Given the description of an element on the screen output the (x, y) to click on. 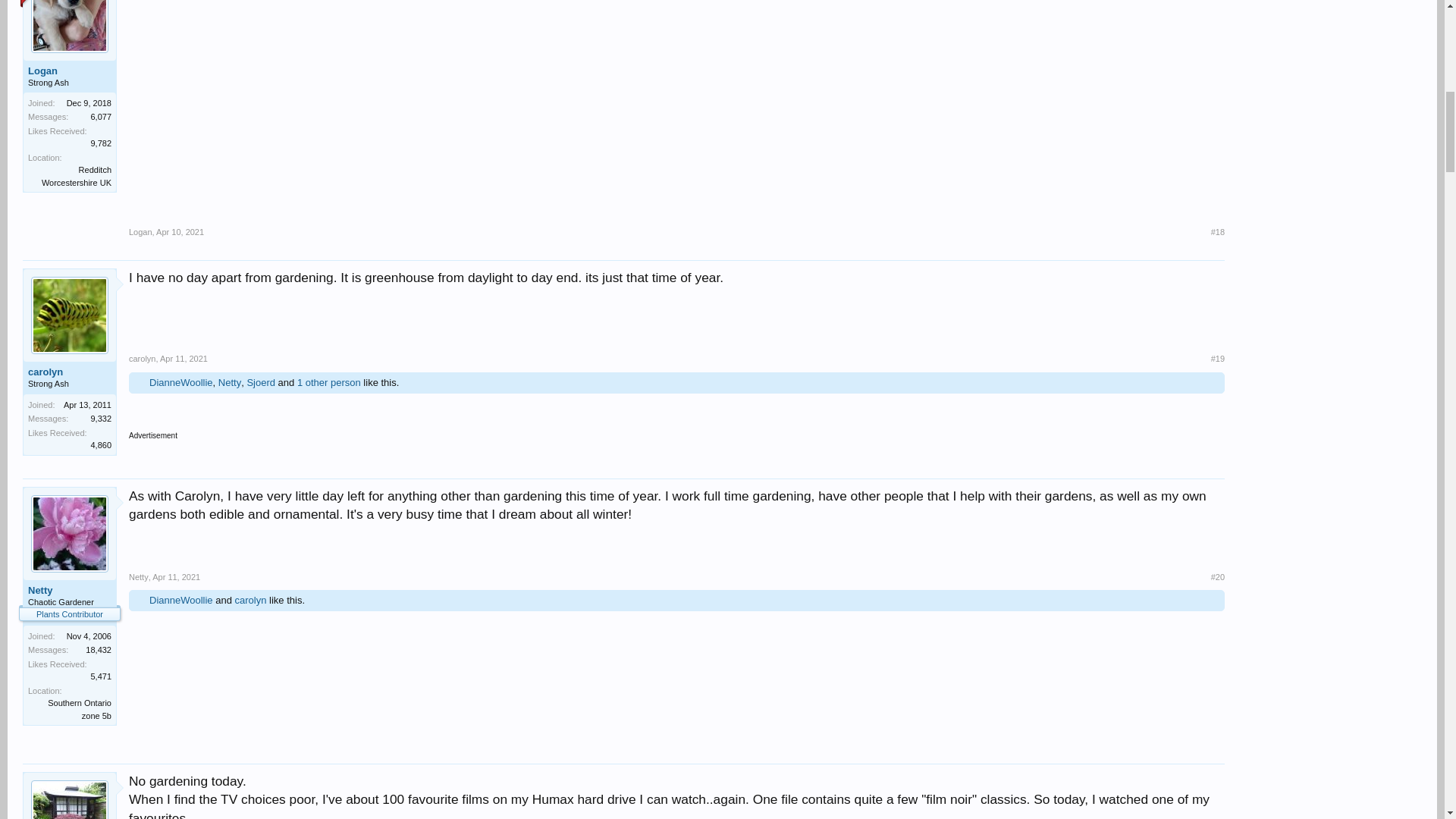
Logan (69, 70)
Permalink (184, 358)
Permalink (1217, 231)
Permalink (176, 576)
Permalink (1217, 357)
Permalink (179, 231)
